Given the description of an element on the screen output the (x, y) to click on. 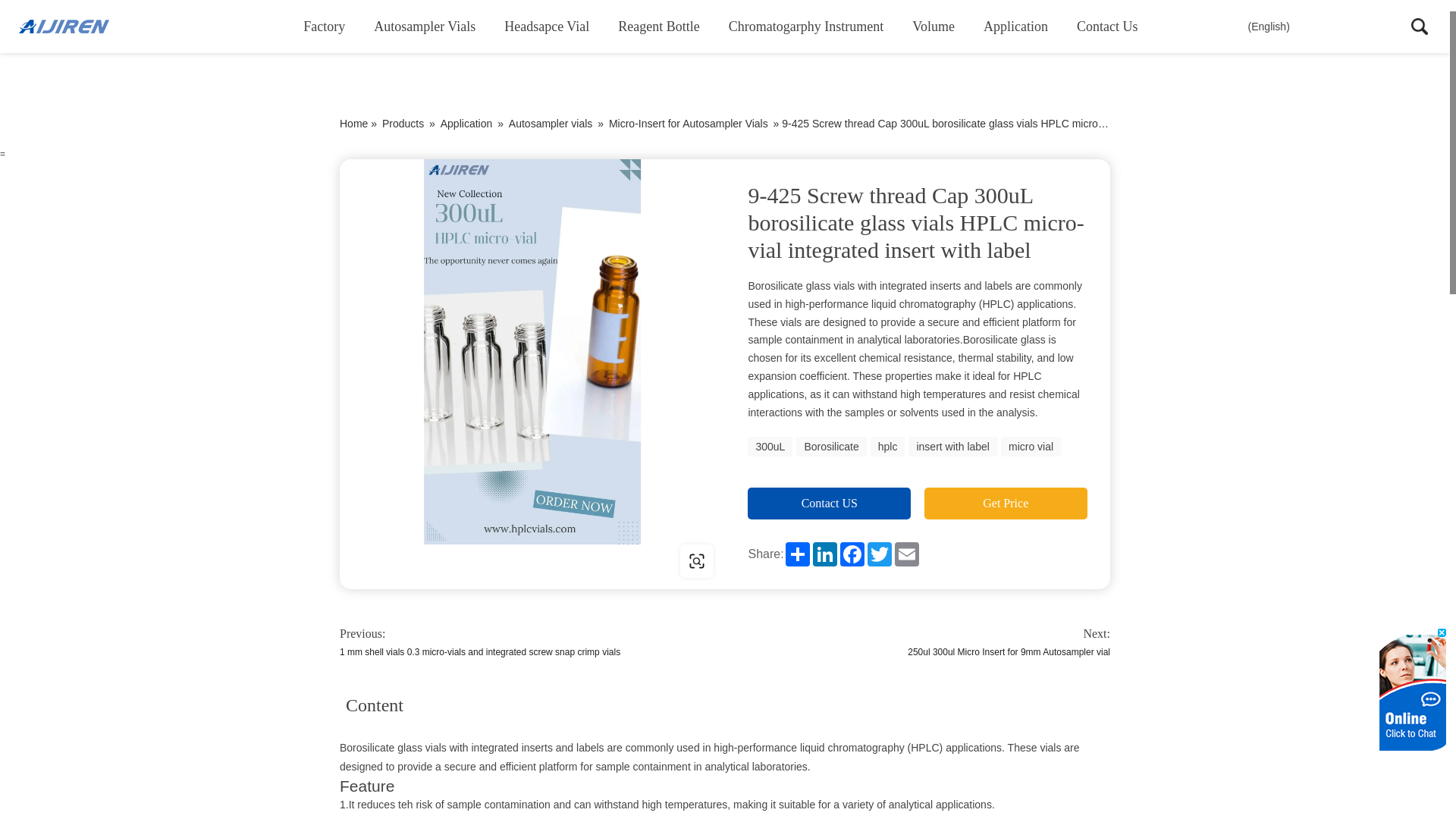
Chromatogarphy Instrument (806, 26)
Headsapce vial (546, 26)
Reagent Bottle (658, 26)
Chromatogarphy instrument (806, 26)
Autosampler vials (424, 26)
Headsapce Vial (546, 26)
Factory (323, 26)
Factory (323, 26)
Autosampler Vials (424, 26)
Reagent Bottle (658, 26)
